Given the description of an element on the screen output the (x, y) to click on. 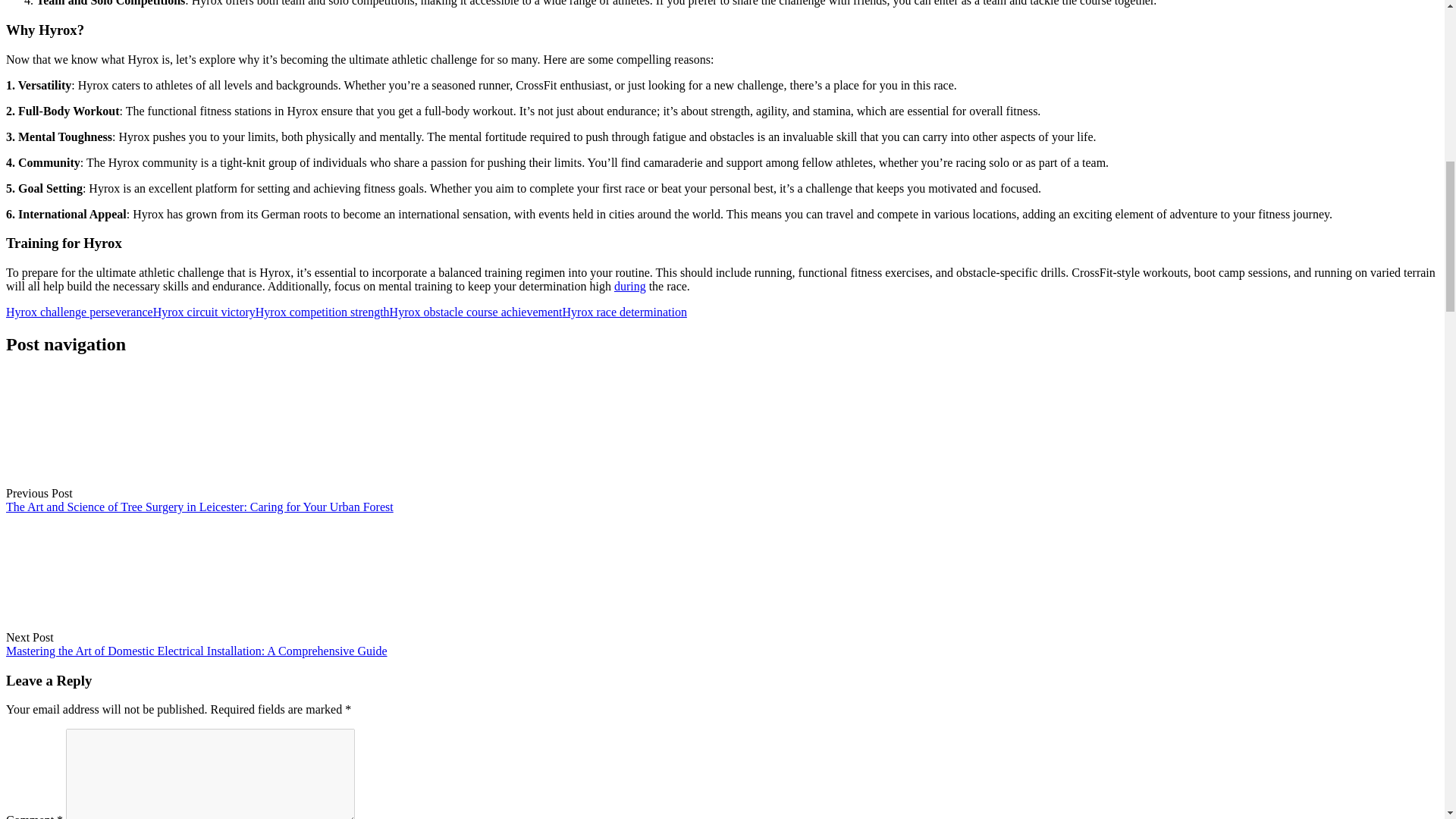
Hyrox race determination (624, 311)
during (630, 286)
Hyrox circuit victory (204, 311)
Hyrox challenge perseverance (78, 311)
Hyrox competition strength (323, 311)
Hyrox obstacle course achievement (476, 311)
